Given the description of an element on the screen output the (x, y) to click on. 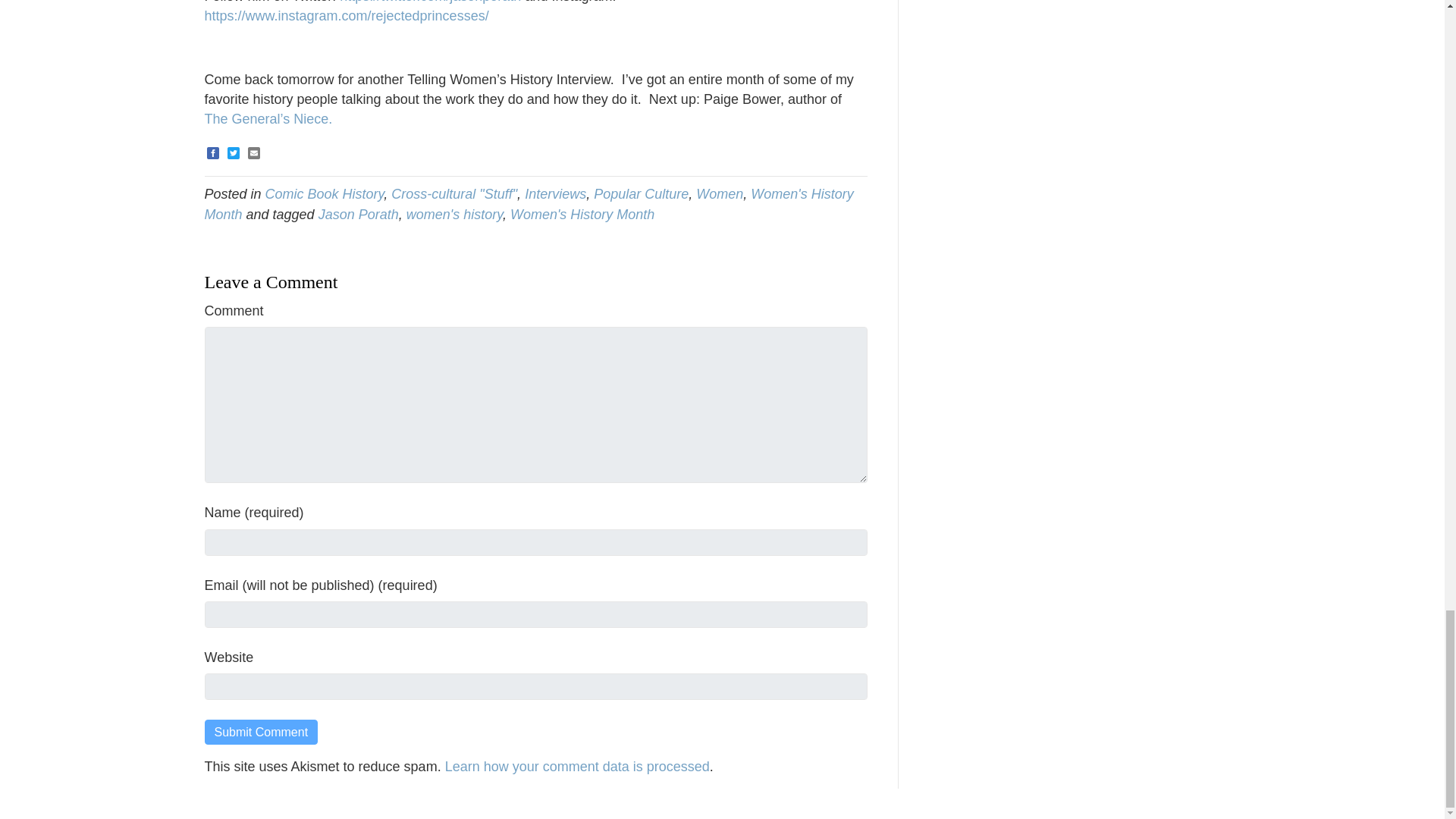
women's history (454, 214)
Learn how your comment data is processed (577, 766)
Interviews (555, 193)
Submit Comment (261, 731)
Women's History Month (583, 214)
Cross-cultural "Stuff" (453, 193)
Submit Comment (261, 731)
Jason Porath (358, 214)
Comic Book History (324, 193)
Popular Culture (641, 193)
